Given the description of an element on the screen output the (x, y) to click on. 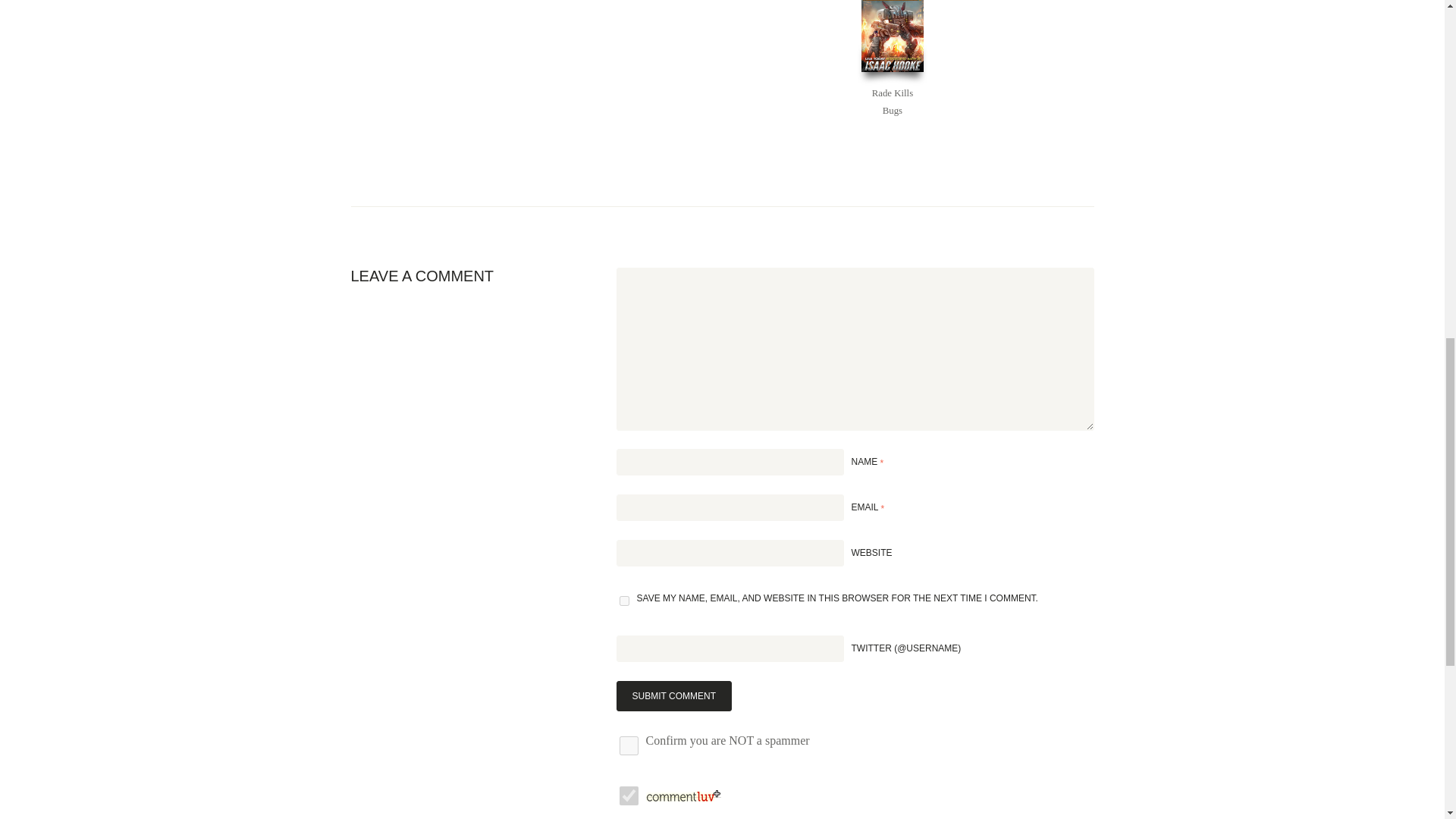
CommentLuv is enabled (683, 790)
Submit Comment (673, 695)
